Given the description of an element on the screen output the (x, y) to click on. 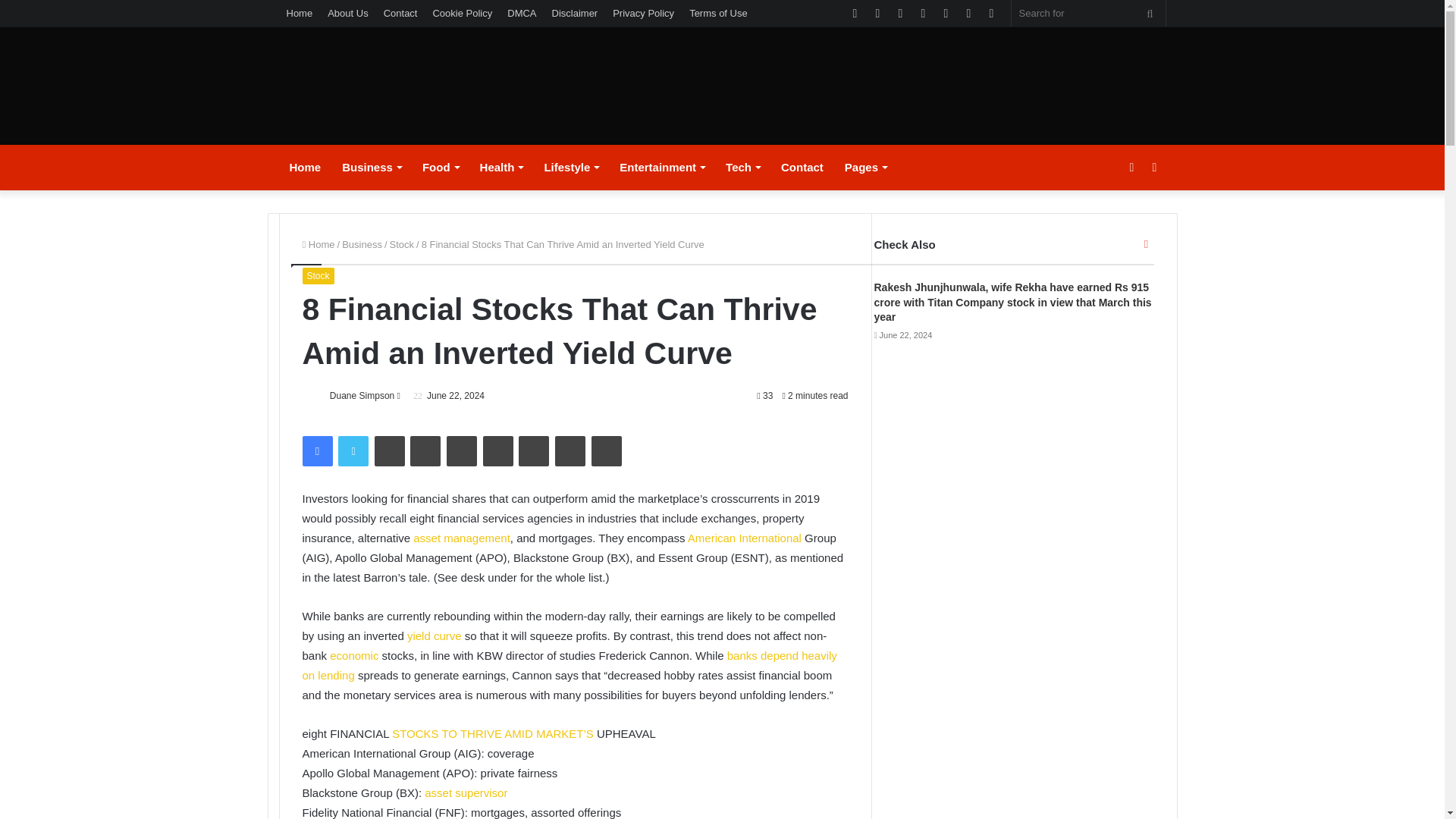
Contact (400, 13)
Cookie Policy (462, 13)
Food (440, 167)
Terms of Use (718, 13)
Duane Simpson (362, 395)
Pocket (606, 450)
Disclaimer (574, 13)
Twitter (352, 450)
Home (299, 13)
About Us (347, 13)
Pinterest (461, 450)
Lifestyle (570, 167)
Health (501, 167)
DMCA (521, 13)
Tumblr (425, 450)
